Given the description of an element on the screen output the (x, y) to click on. 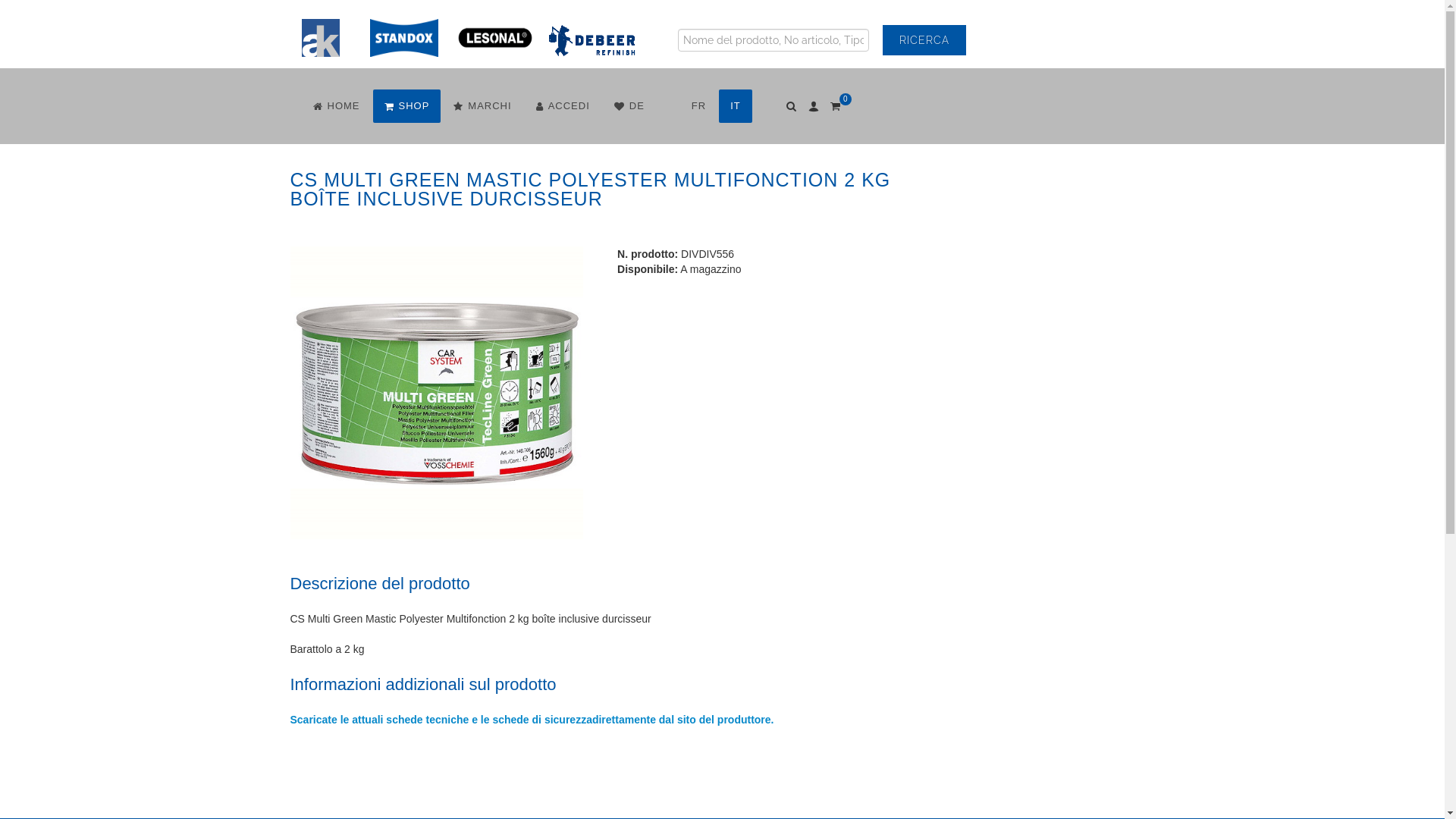
0 Element type: text (835, 103)
FR Element type: text (698, 105)
DE Element type: text (628, 105)
MARCHI Element type: text (482, 105)
Ricerca Element type: text (924, 40)
IT Element type: text (735, 105)
SHOP Element type: text (407, 105)
ACCEDI Element type: text (562, 105)
HOME Element type: text (336, 105)
